Given the description of an element on the screen output the (x, y) to click on. 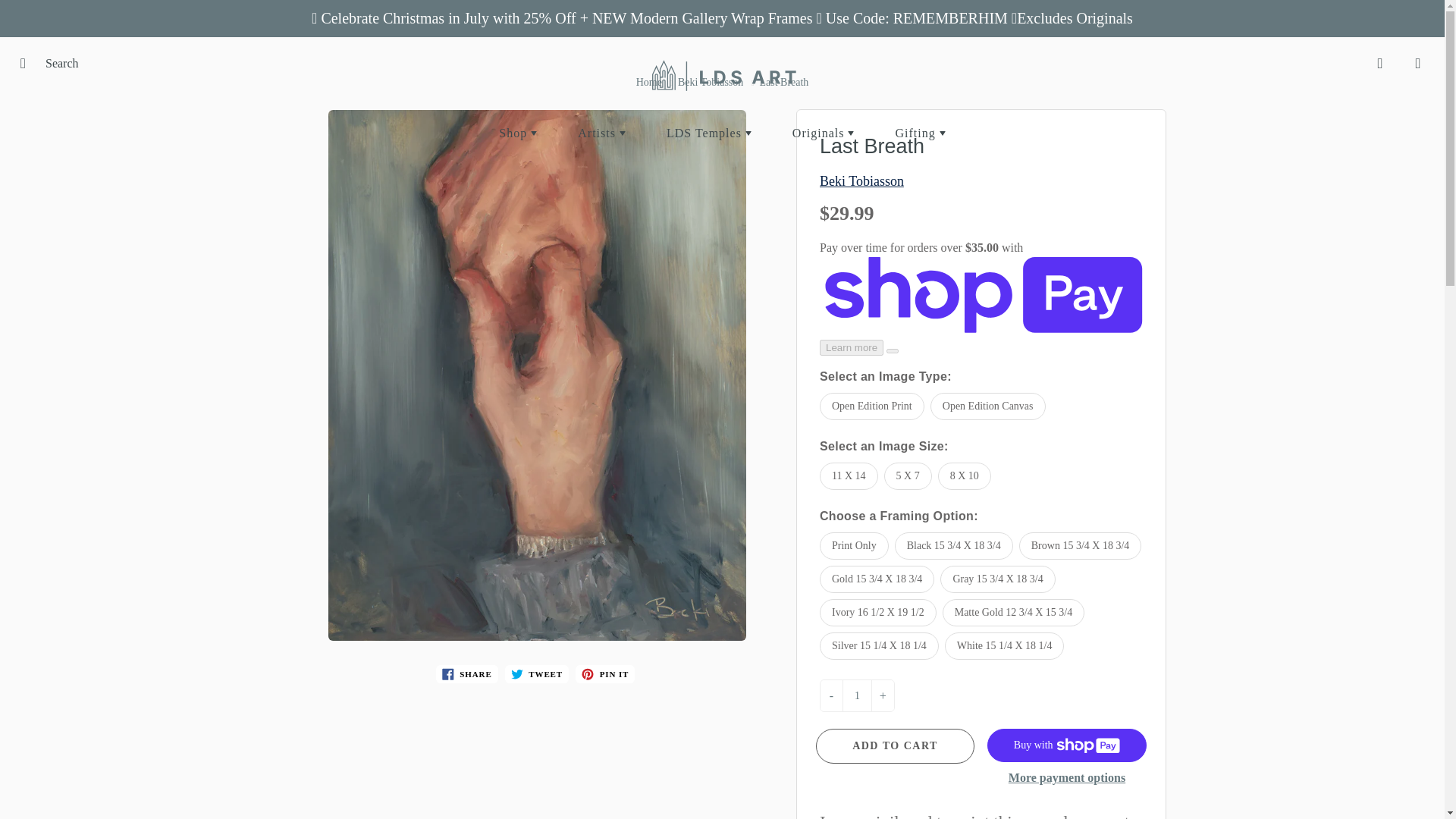
My account (1379, 63)
Shop (518, 133)
Home (649, 81)
Search (28, 63)
You have 0 items in your cart (1417, 63)
1 (857, 695)
